Given the description of an element on the screen output the (x, y) to click on. 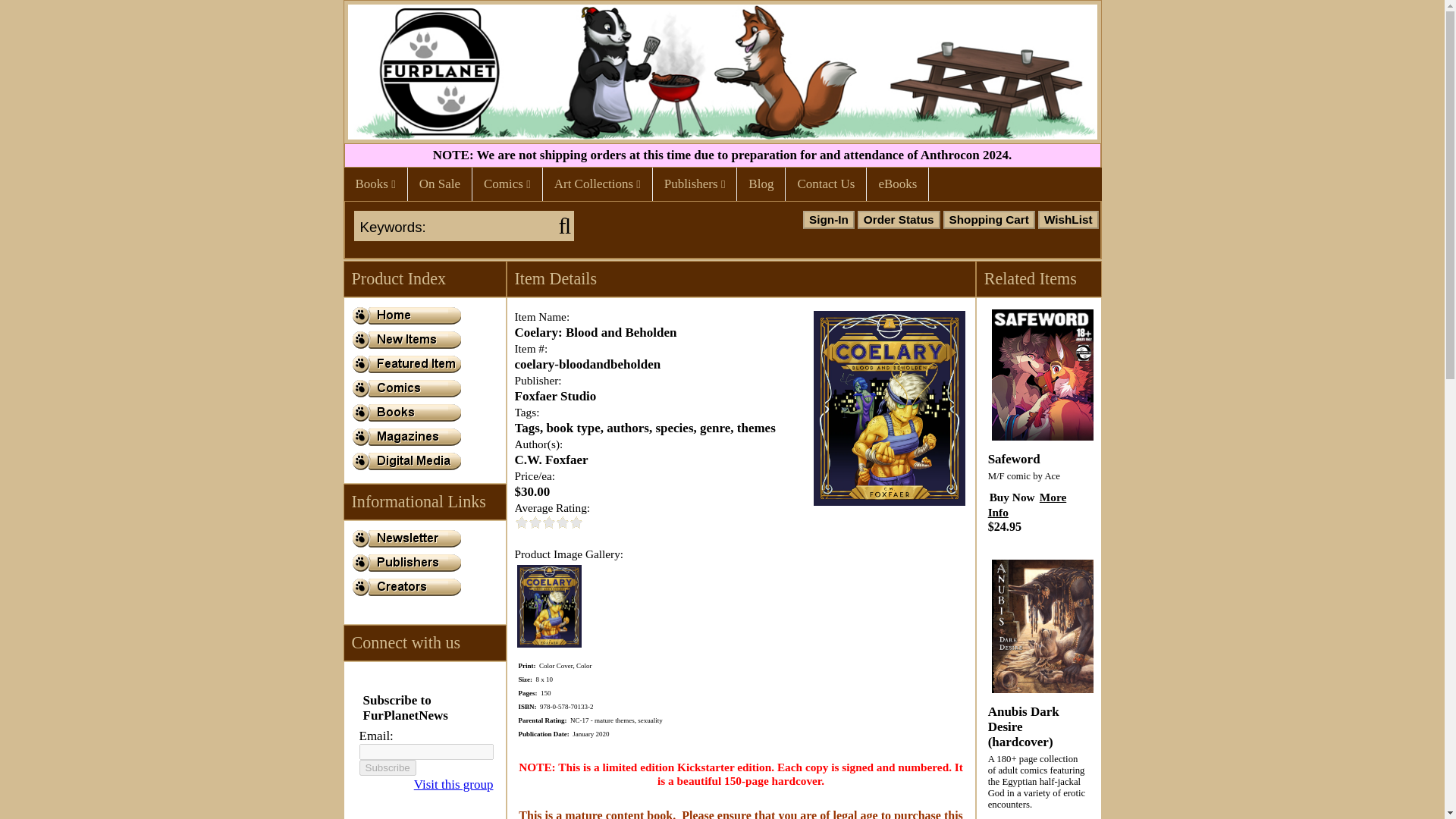
Order Status (898, 219)
Books (374, 183)
WishList (1068, 219)
Art Collections (597, 183)
Subscribe (387, 767)
Keywords: (453, 227)
Comics (507, 183)
Keywords: (453, 227)
Sign-In (828, 219)
Shopping Cart (989, 219)
On Sale (439, 183)
